Given the description of an element on the screen output the (x, y) to click on. 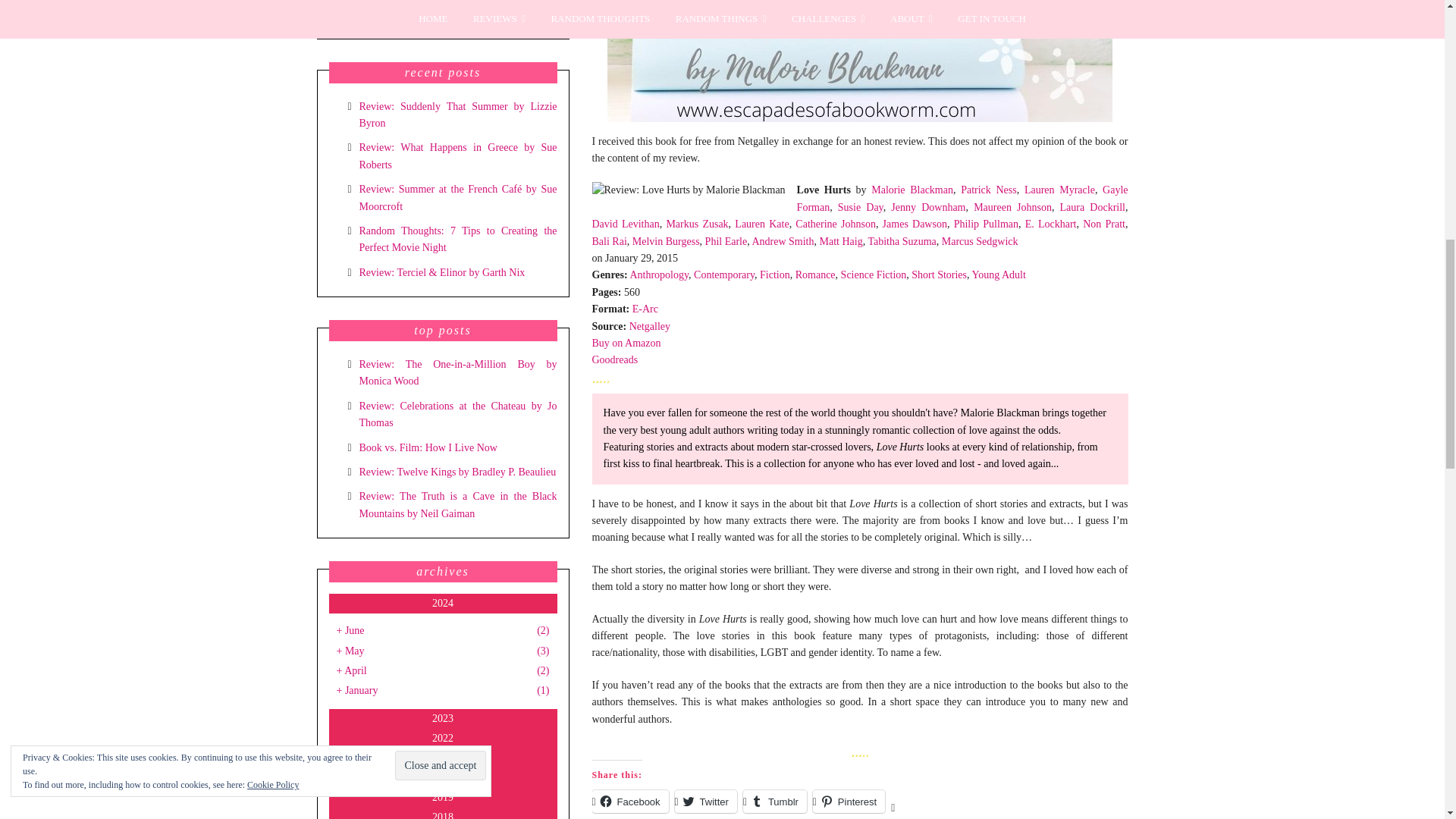
Click to share on Tumblr (774, 801)
Click to share on Facebook (629, 801)
Review: Love Hurts by Malorie Blackman (687, 190)
Click to share on Pinterest (848, 801)
Click to share on Twitter (705, 801)
